Given the description of an element on the screen output the (x, y) to click on. 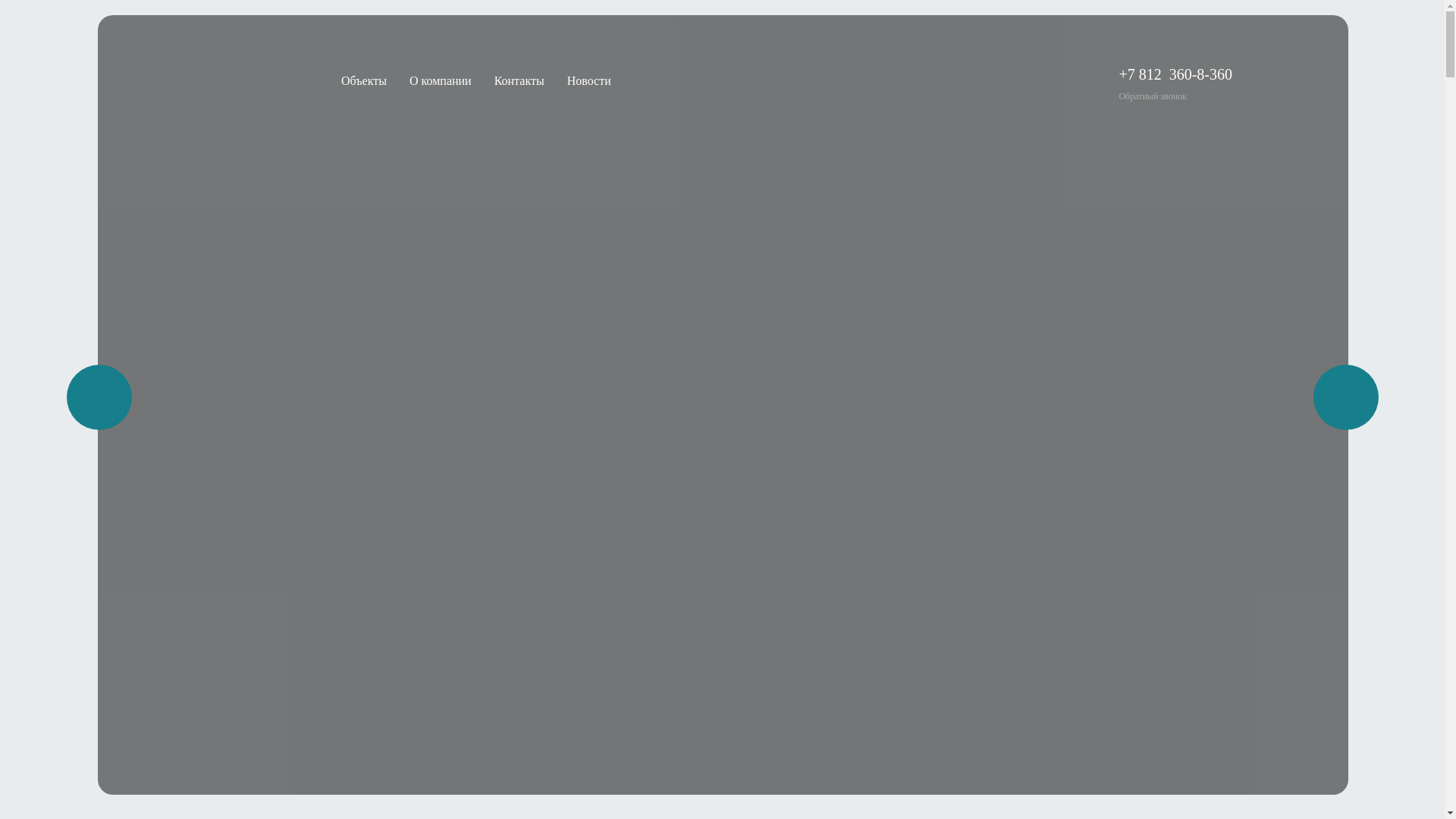
+7 812  360-8-360 Element type: text (1175, 74)
